Given the description of an element on the screen output the (x, y) to click on. 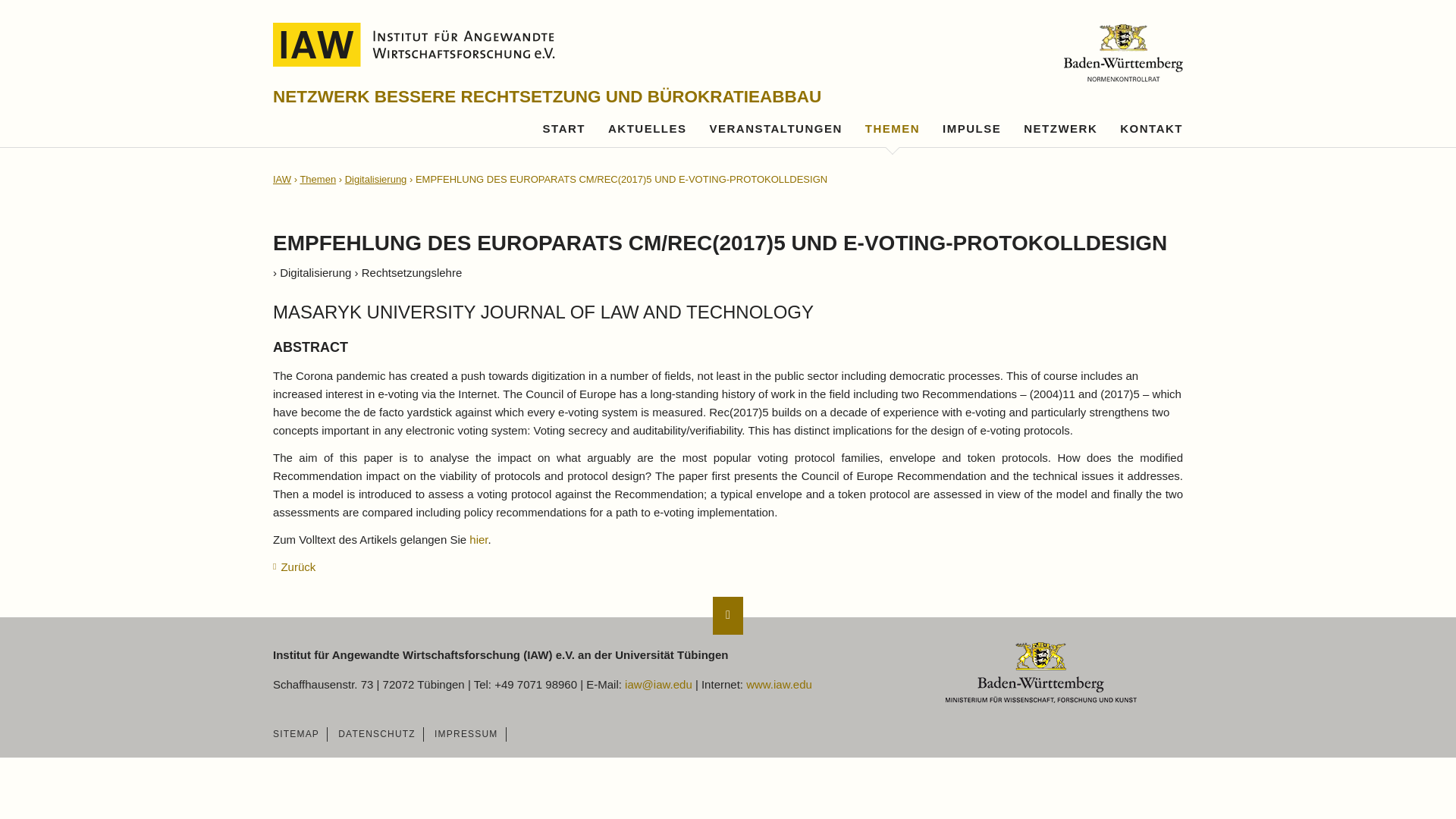
VERANSTALTUNGEN (775, 128)
THEMEN (892, 128)
AKTUELLES (647, 128)
START (564, 128)
